Given the description of an element on the screen output the (x, y) to click on. 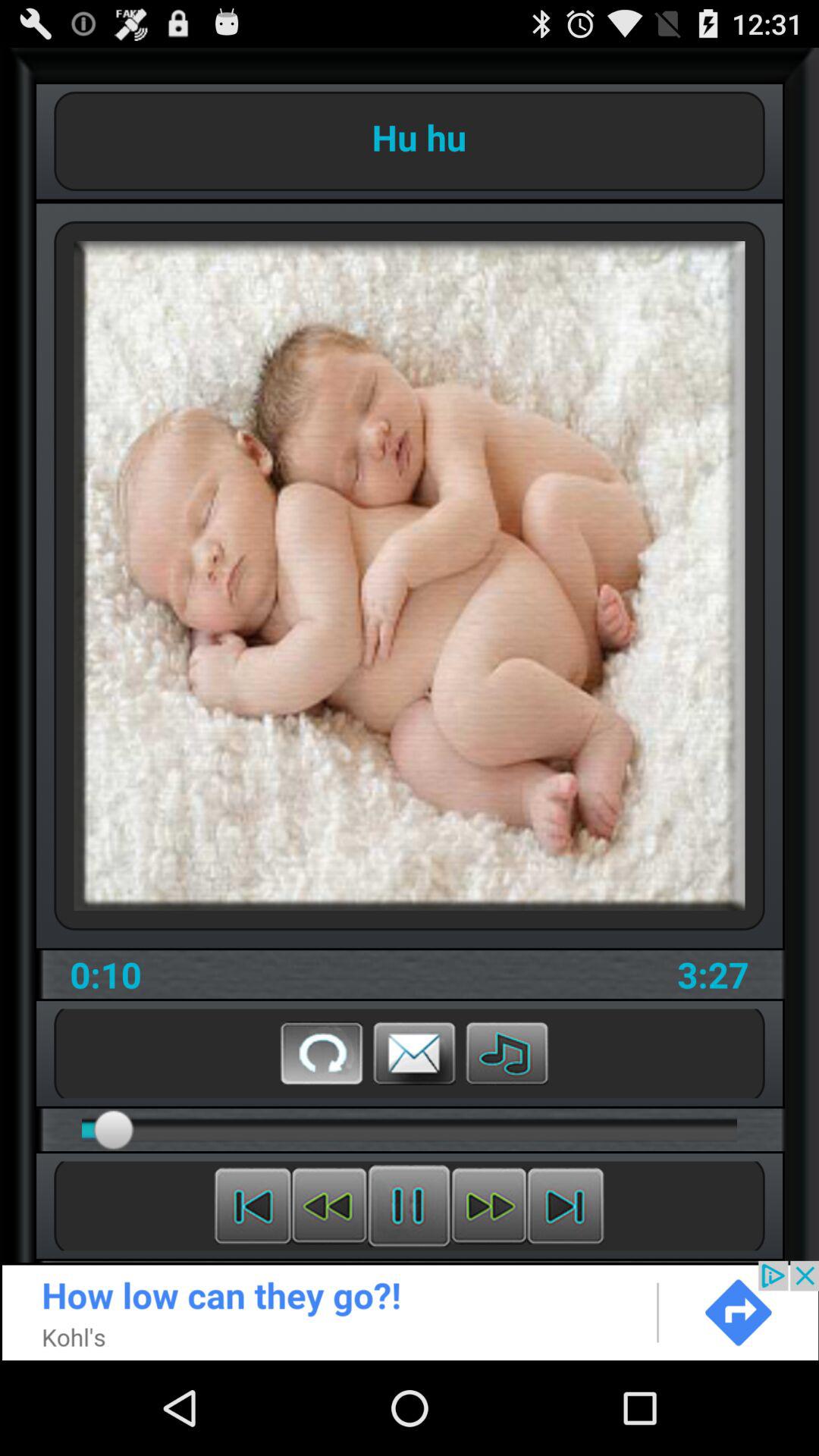
share through email (414, 1053)
